Given the description of an element on the screen output the (x, y) to click on. 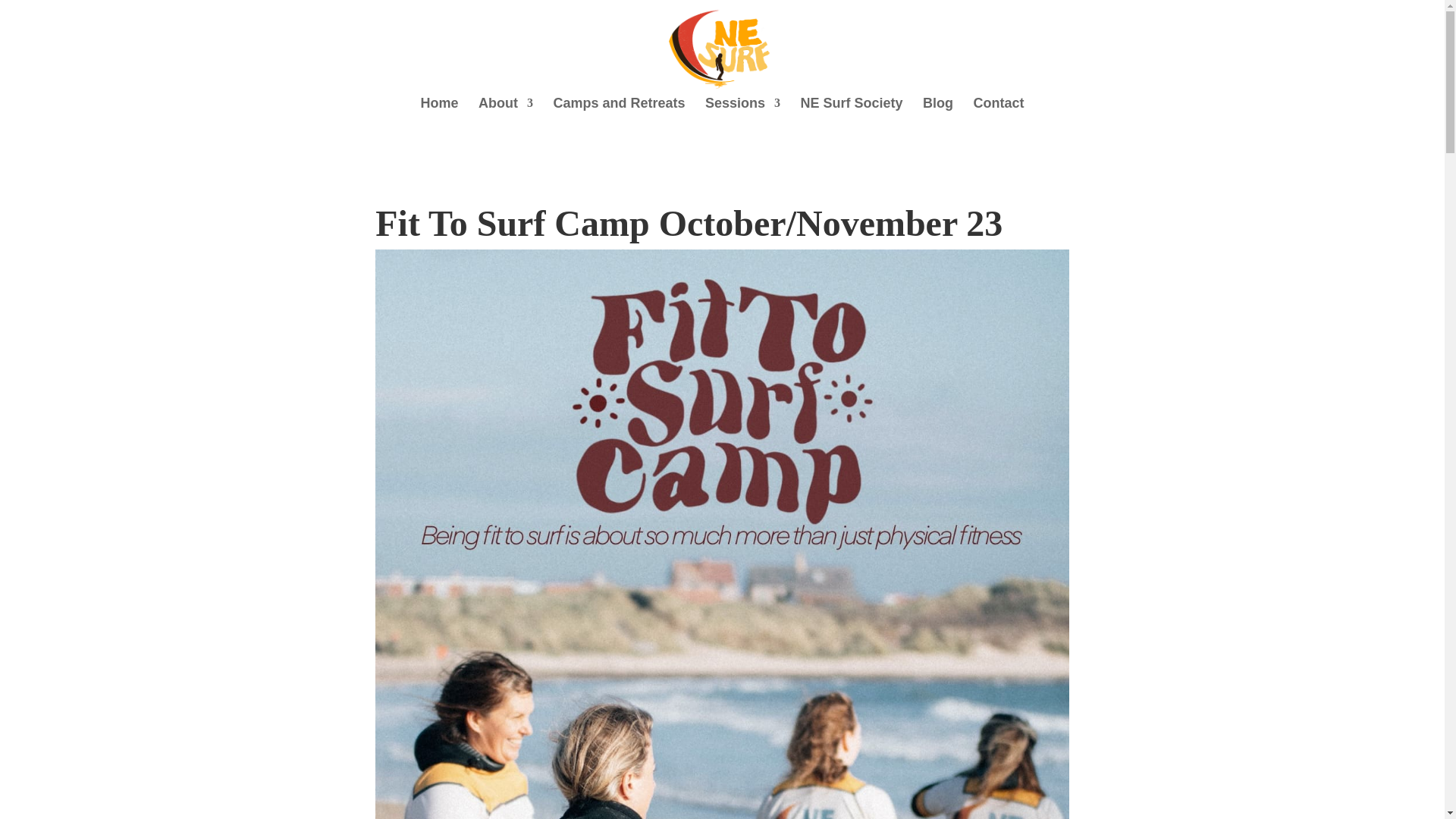
Blog (938, 111)
Camps and Retreats (618, 111)
Contact (997, 111)
About (505, 111)
Home (439, 111)
Sessions (742, 111)
NE Surf Society (850, 111)
